Given the description of an element on the screen output the (x, y) to click on. 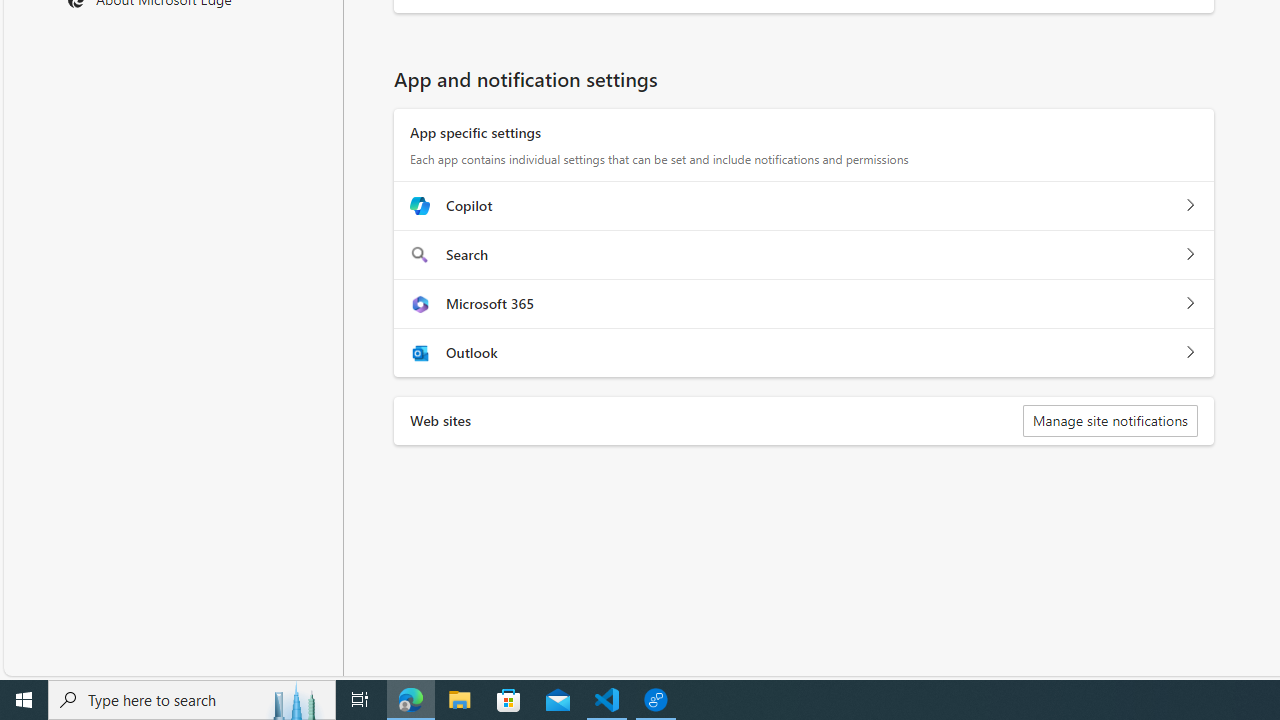
Copilot (1190, 205)
Manage site notifications (1109, 420)
Outlook (1190, 352)
